Given the description of an element on the screen output the (x, y) to click on. 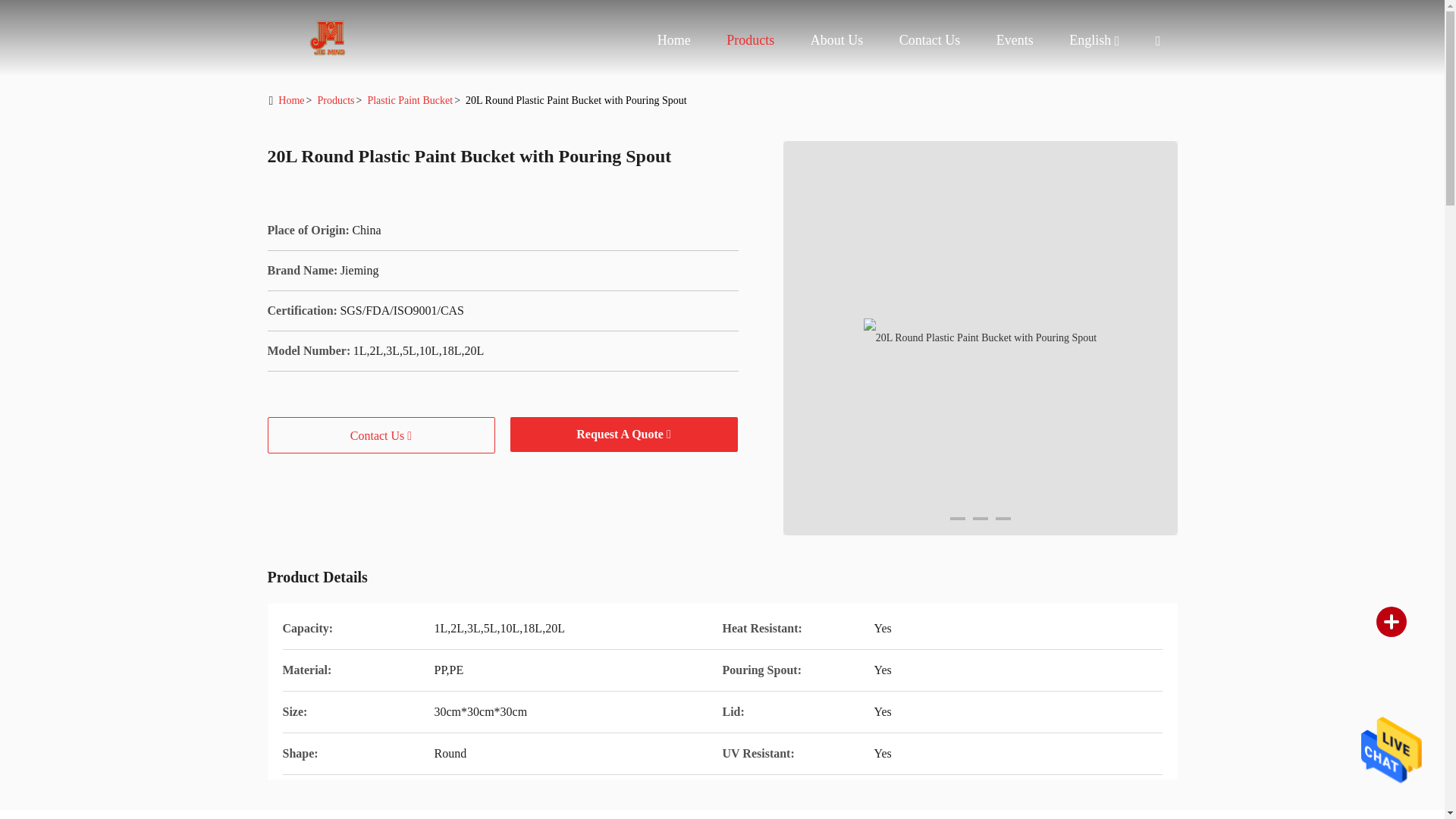
About Us (836, 40)
Home (328, 37)
Contact Us (929, 40)
Products (750, 40)
Products (750, 40)
